Given the description of an element on the screen output the (x, y) to click on. 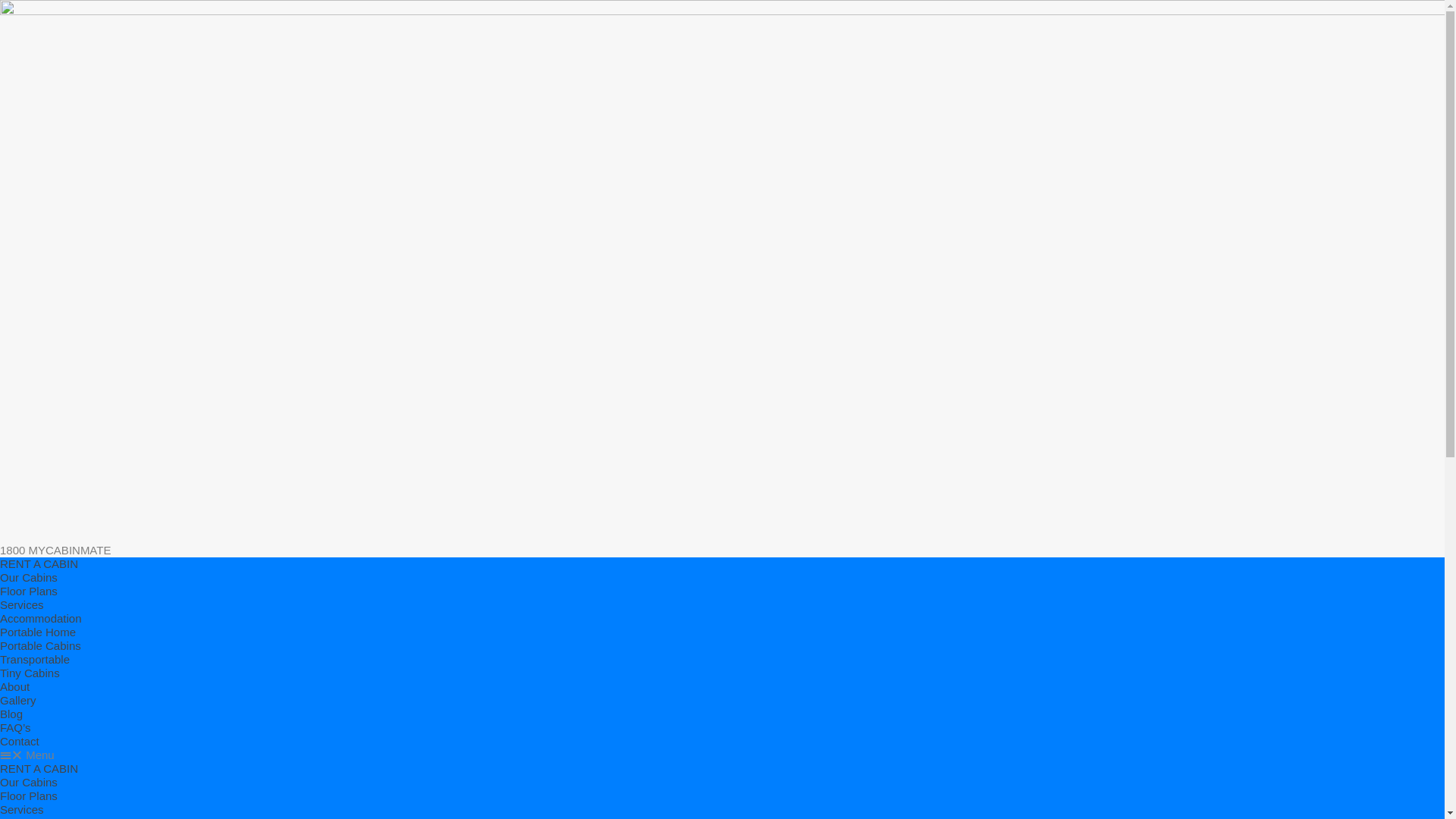
Floor Plans Element type: text (28, 795)
Portable Home Element type: text (37, 631)
Contact Element type: text (19, 740)
About Element type: text (14, 686)
Portable Cabins Element type: text (40, 645)
Gallery Element type: text (18, 699)
Services Element type: text (21, 604)
Accommodation Element type: text (40, 617)
Floor Plans Element type: text (28, 590)
Tiny Cabins Element type: text (29, 672)
RENT A CABIN Element type: text (39, 563)
Our Cabins Element type: text (28, 781)
Services Element type: text (21, 809)
RENT A CABIN Element type: text (39, 768)
Our Cabins Element type: text (28, 577)
Transportable Element type: text (34, 658)
Blog Element type: text (11, 713)
